Given the description of an element on the screen output the (x, y) to click on. 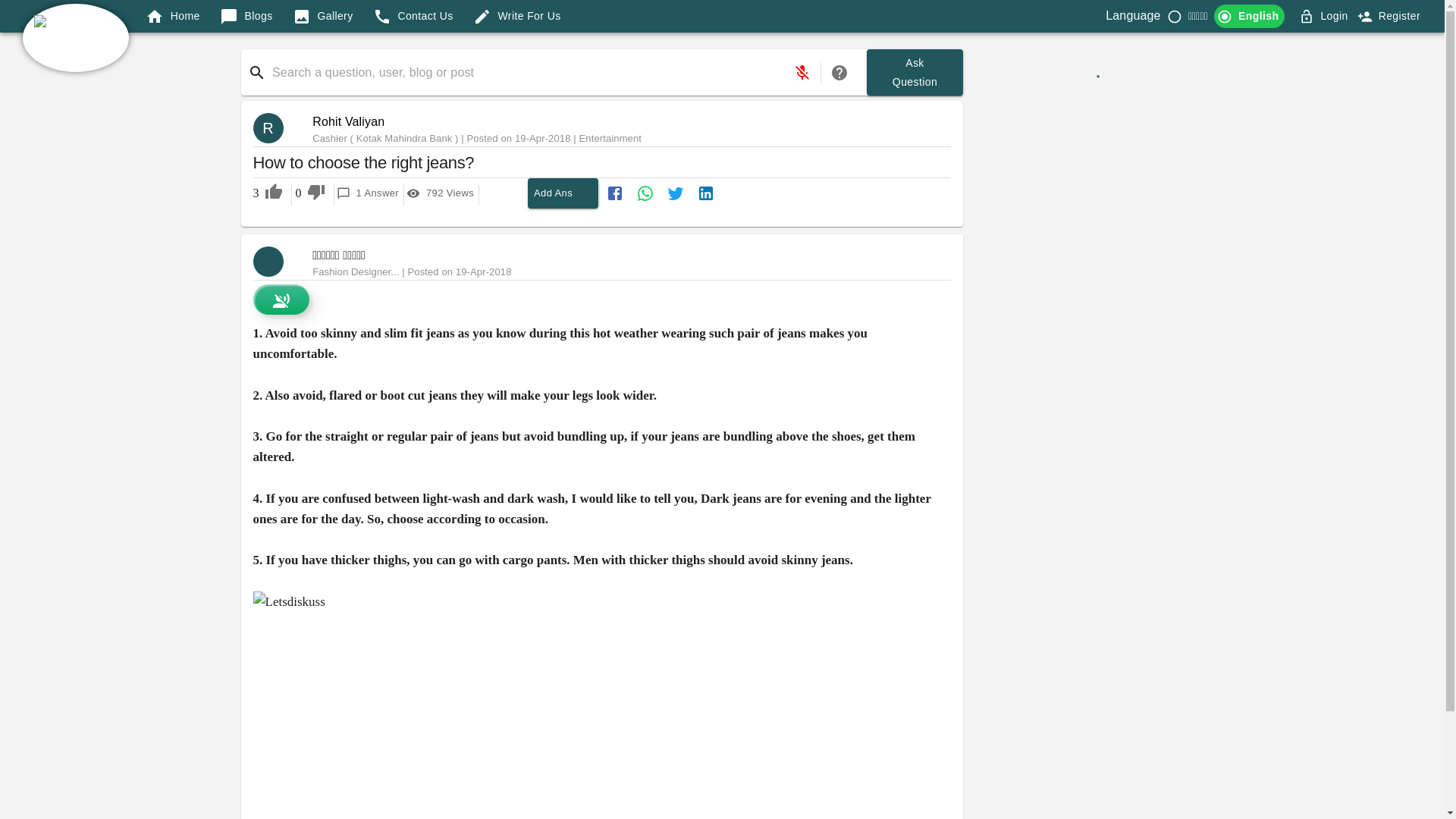
 Blogs (246, 16)
Login (1324, 16)
792 Views (440, 193)
 Write For Us (517, 16)
Register (914, 72)
 Gallery (1399, 15)
English (322, 16)
 Contact Us (1249, 15)
R (413, 16)
Rohit Valiyan (562, 193)
Official Letsdiskuss Logo (274, 128)
Login (348, 121)
Register (75, 37)
